Given the description of an element on the screen output the (x, y) to click on. 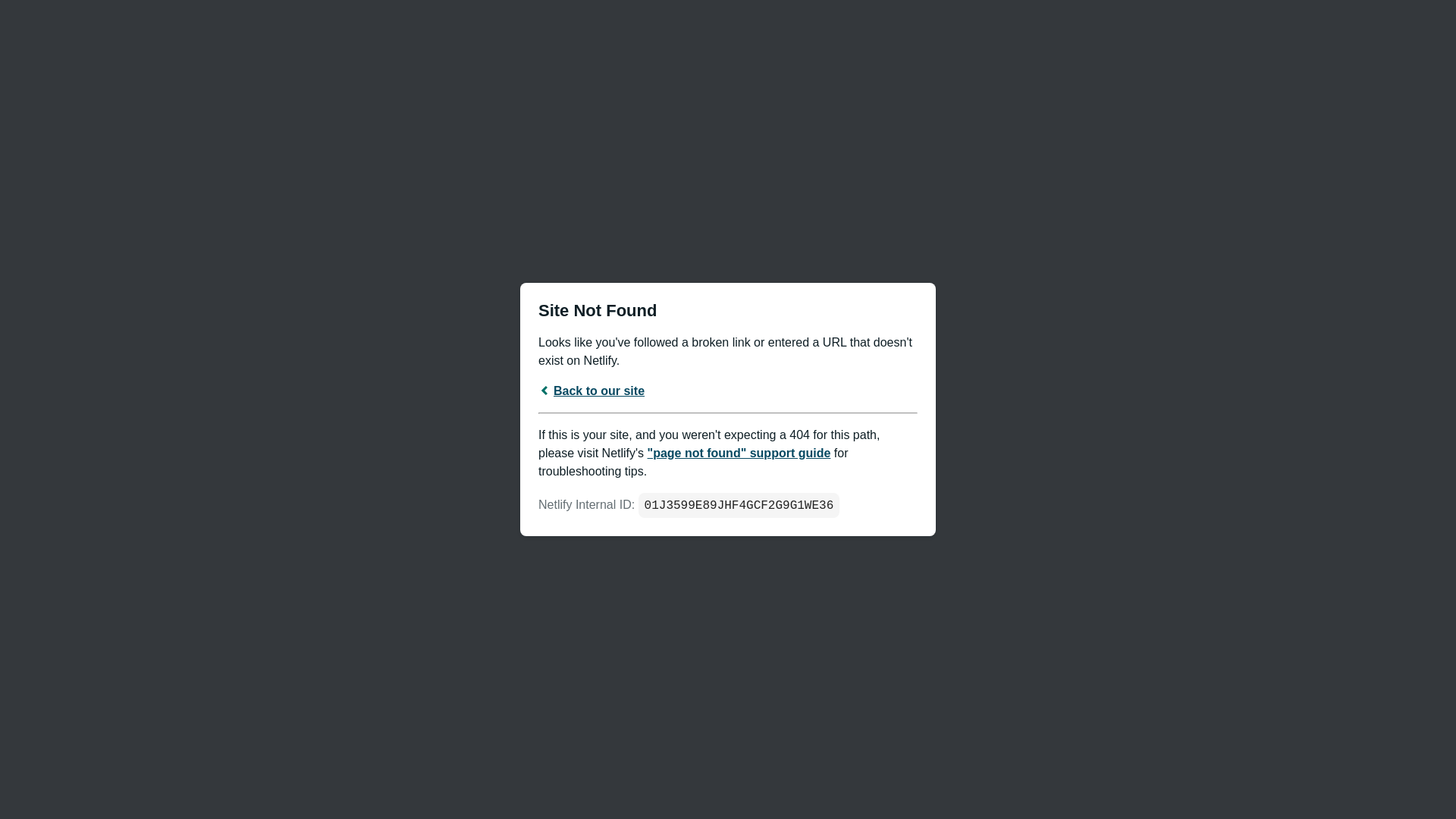
"page not found" support guide (739, 452)
Back to our site (591, 390)
